Given the description of an element on the screen output the (x, y) to click on. 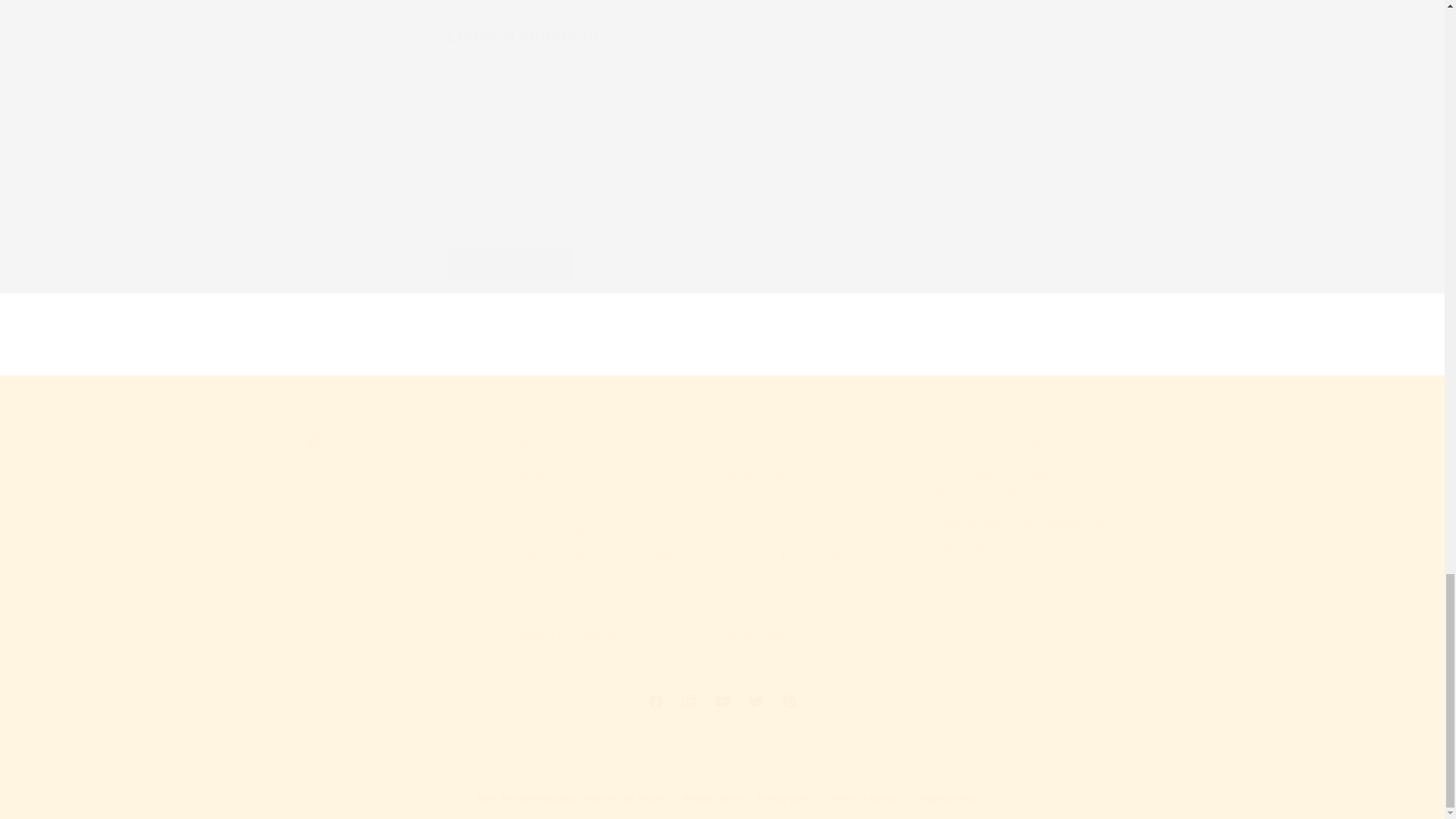
Post comment (721, 701)
